Given the description of an element on the screen output the (x, y) to click on. 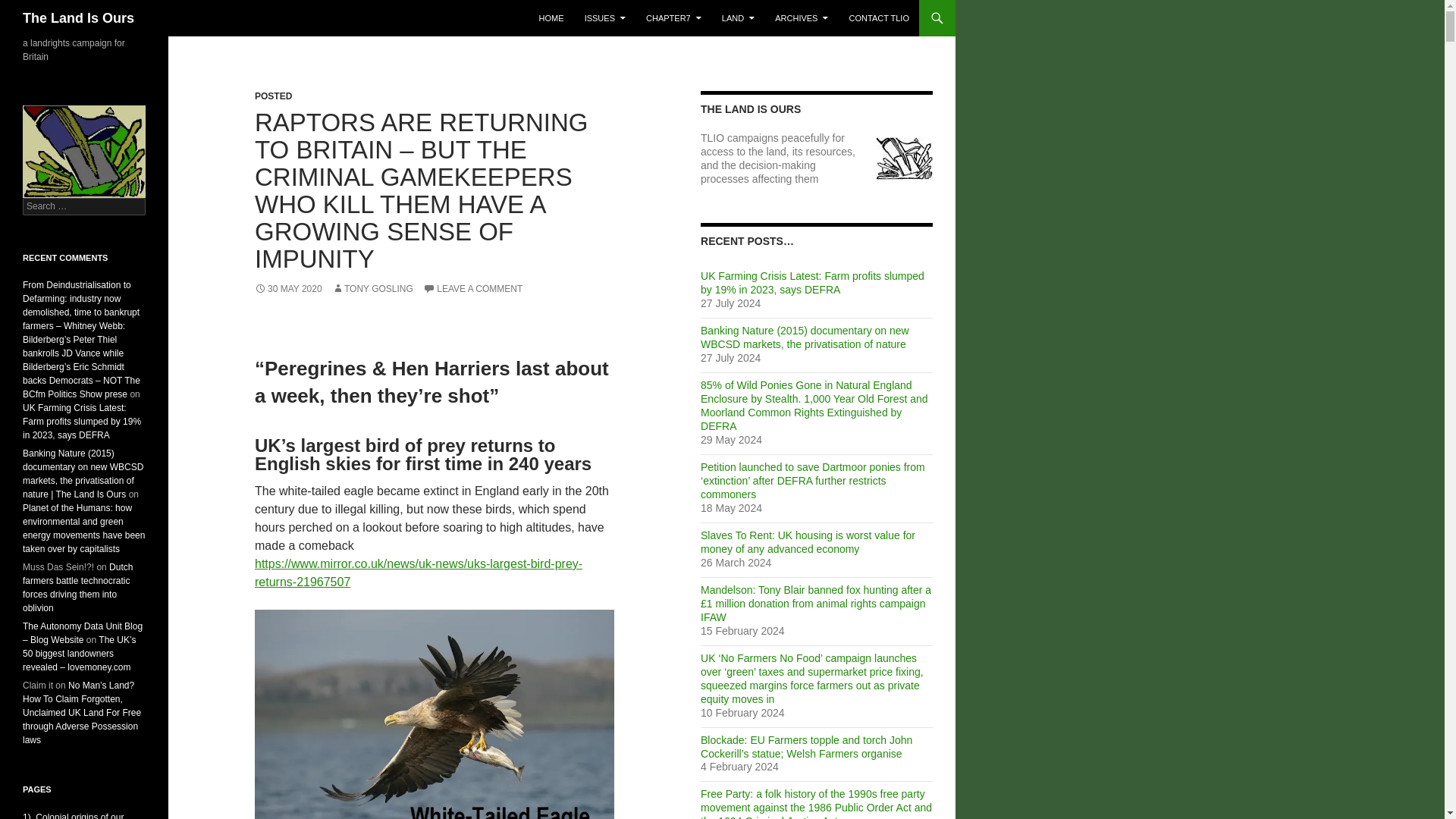
CHAPTER7 (673, 18)
LAND (737, 18)
ARCHIVES (801, 18)
ISSUES (604, 18)
HOME (551, 18)
The Land Is Ours (78, 18)
